Given the description of an element on the screen output the (x, y) to click on. 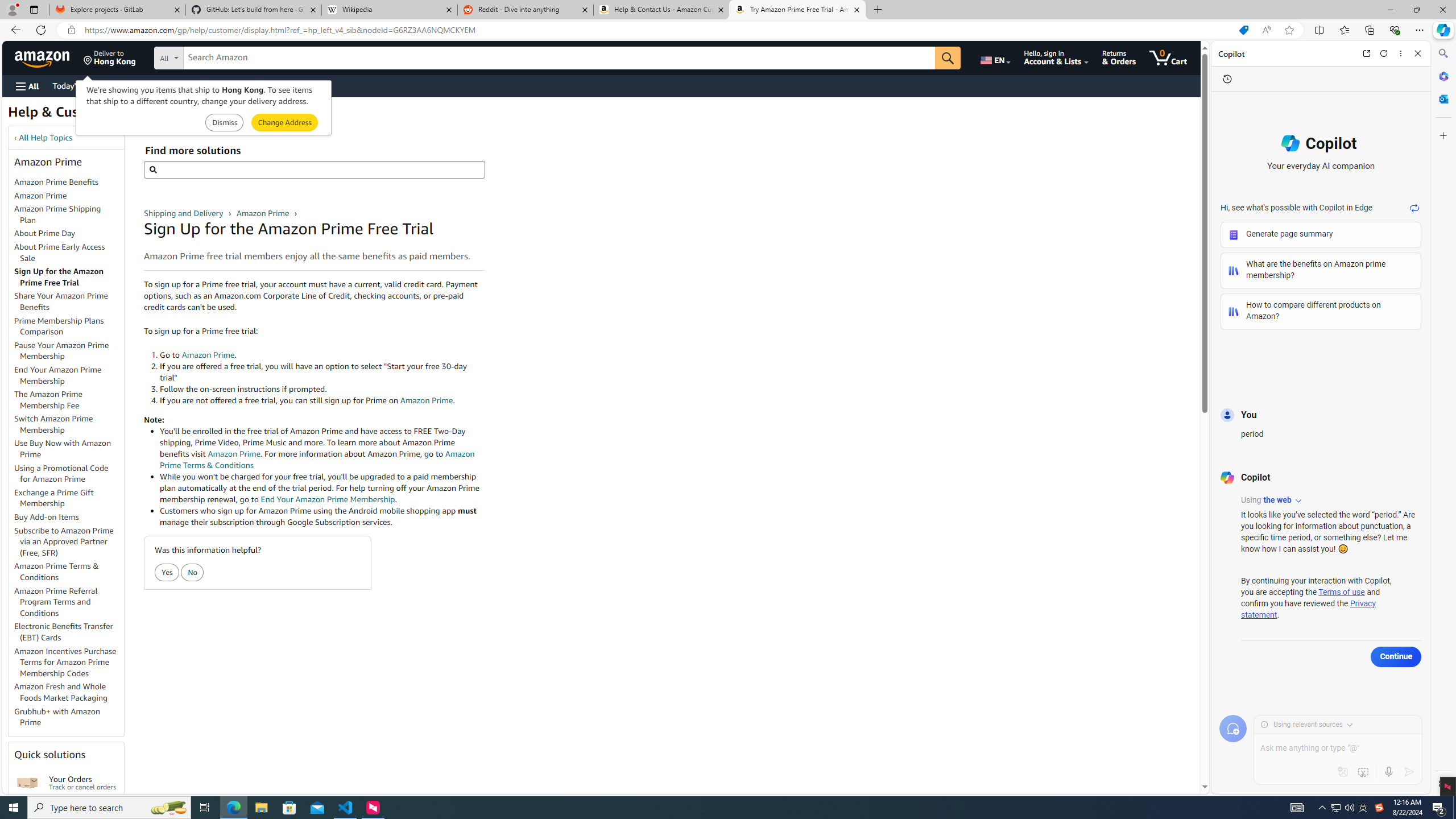
Exchange a Prime Gift Membership (68, 498)
Go (947, 57)
Electronic Benefits Transfer (EBT) Cards (63, 631)
Use Buy Now with Amazon Prime (68, 449)
Your Orders (27, 782)
Grubhub+ with Amazon Prime (68, 716)
Amazon Prime (40, 195)
Help & Customer Service (87, 114)
Amazon Fresh and Whole Foods Market Packaging (60, 691)
